Given the description of an element on the screen output the (x, y) to click on. 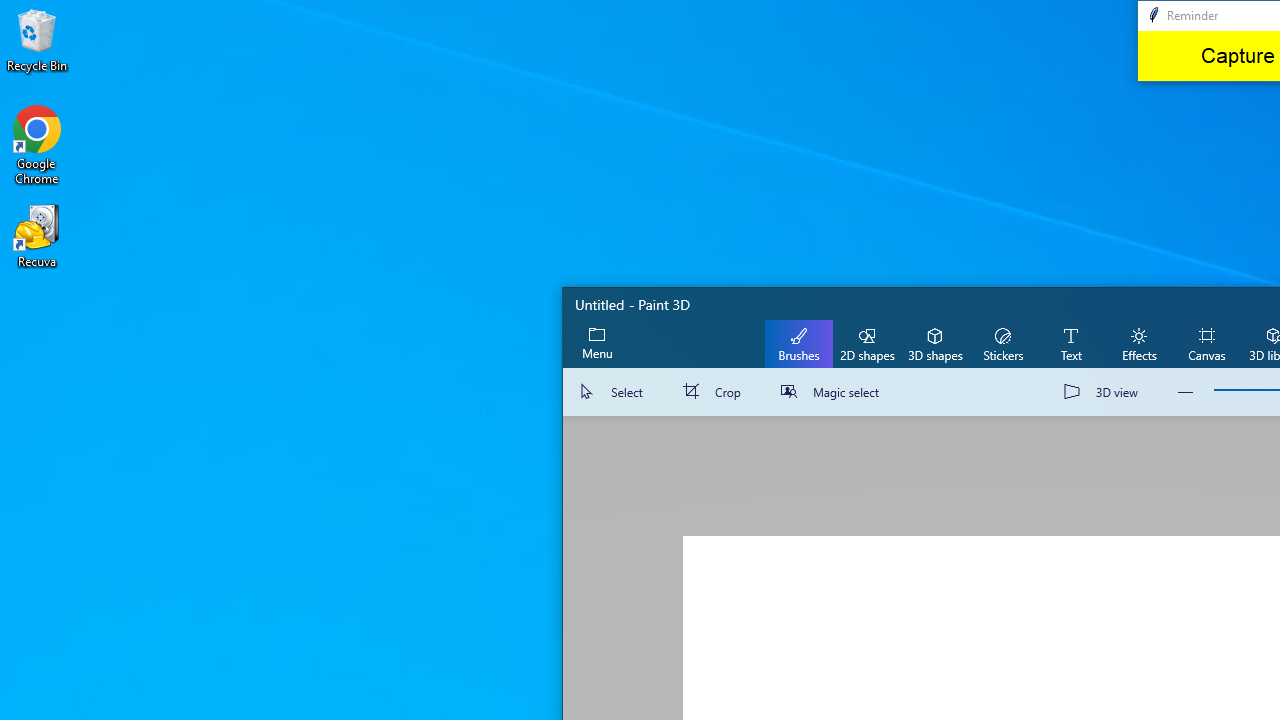
Text (1070, 343)
Canvas (1206, 343)
3D view (1105, 391)
Brushes (799, 343)
Crop (715, 391)
Stickers (1002, 343)
Magic select (833, 391)
3D shapes (934, 343)
Effects (1138, 343)
2D shapes (867, 343)
Zoom out (1185, 391)
Expand menu (597, 343)
Select (614, 391)
